Given the description of an element on the screen output the (x, y) to click on. 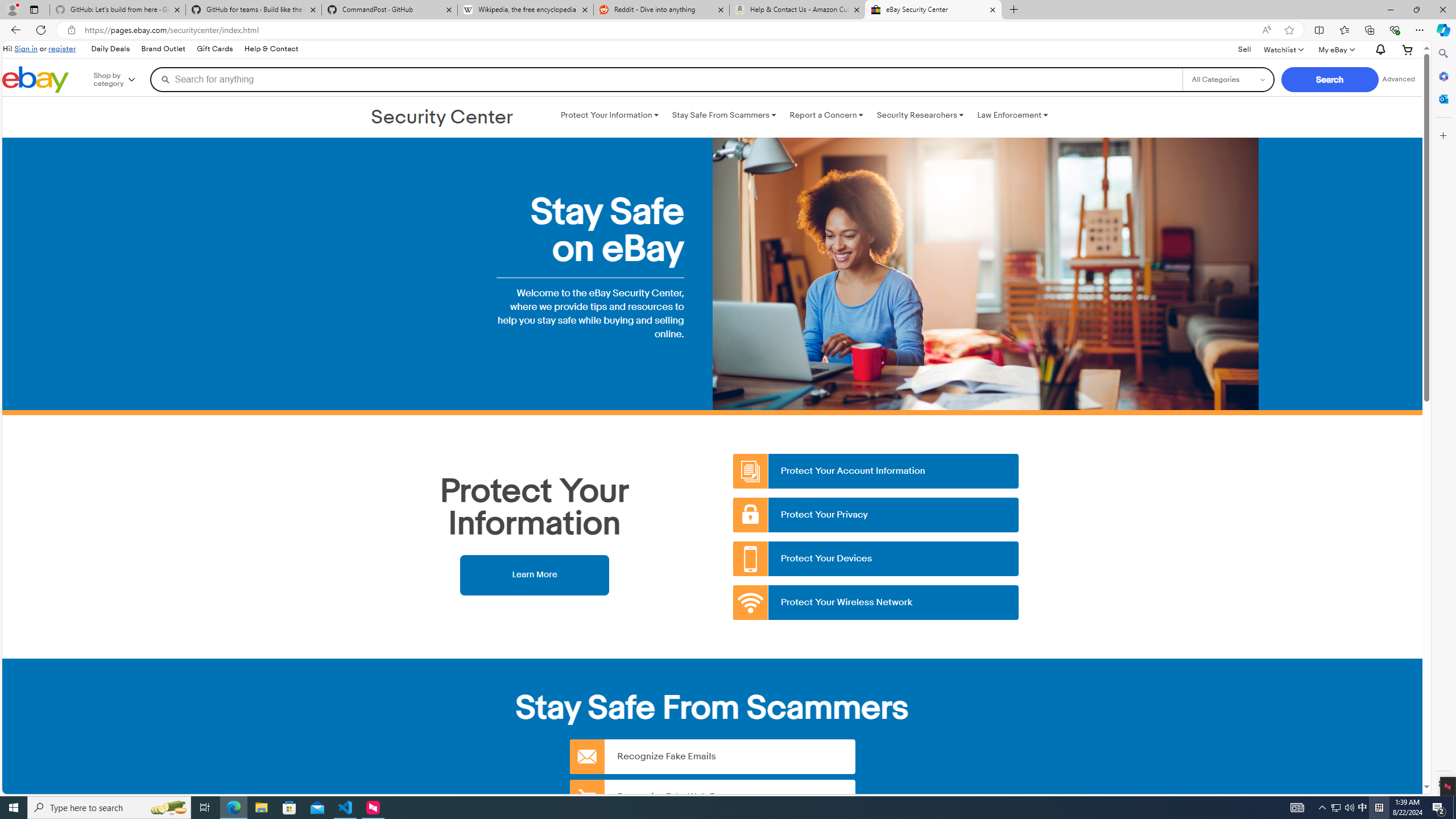
Protect Your Information  (608, 115)
Gift Cards (214, 49)
Report a Concern  (826, 115)
Brand Outlet (162, 49)
eBay Home (35, 79)
Shop by category (122, 79)
Brand Outlet (163, 49)
eBay Security Center (933, 9)
Wikipedia, the free encyclopedia (525, 9)
